Given the description of an element on the screen output the (x, y) to click on. 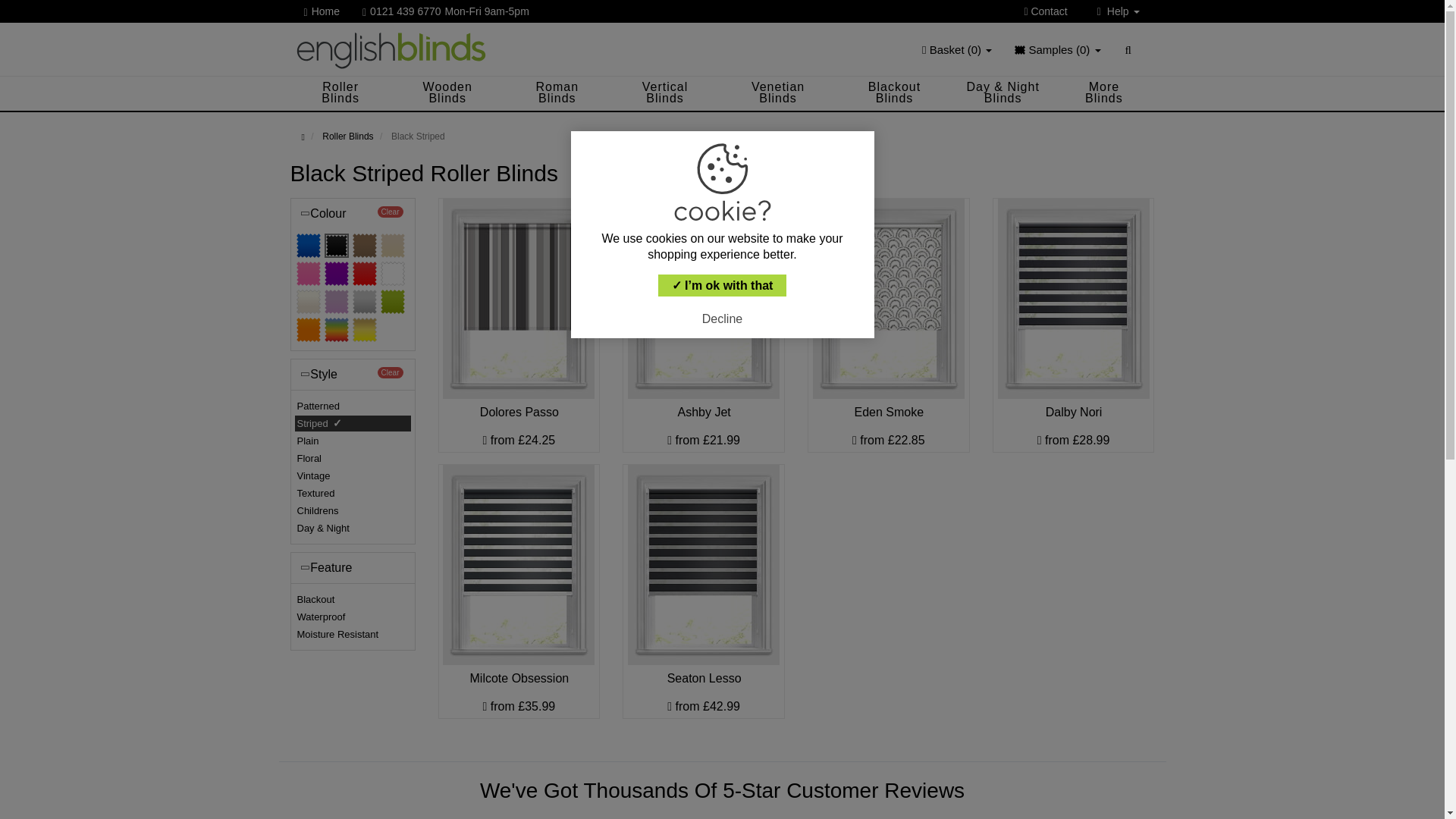
Beige (392, 245)
Black (336, 245)
3 Year Guarantee (1079, 35)
Contact (1050, 11)
English Blinds (390, 49)
Brown (363, 245)
Red (363, 273)
Order Tracking (1079, 36)
White (392, 273)
Pink (307, 273)
